Given the description of an element on the screen output the (x, y) to click on. 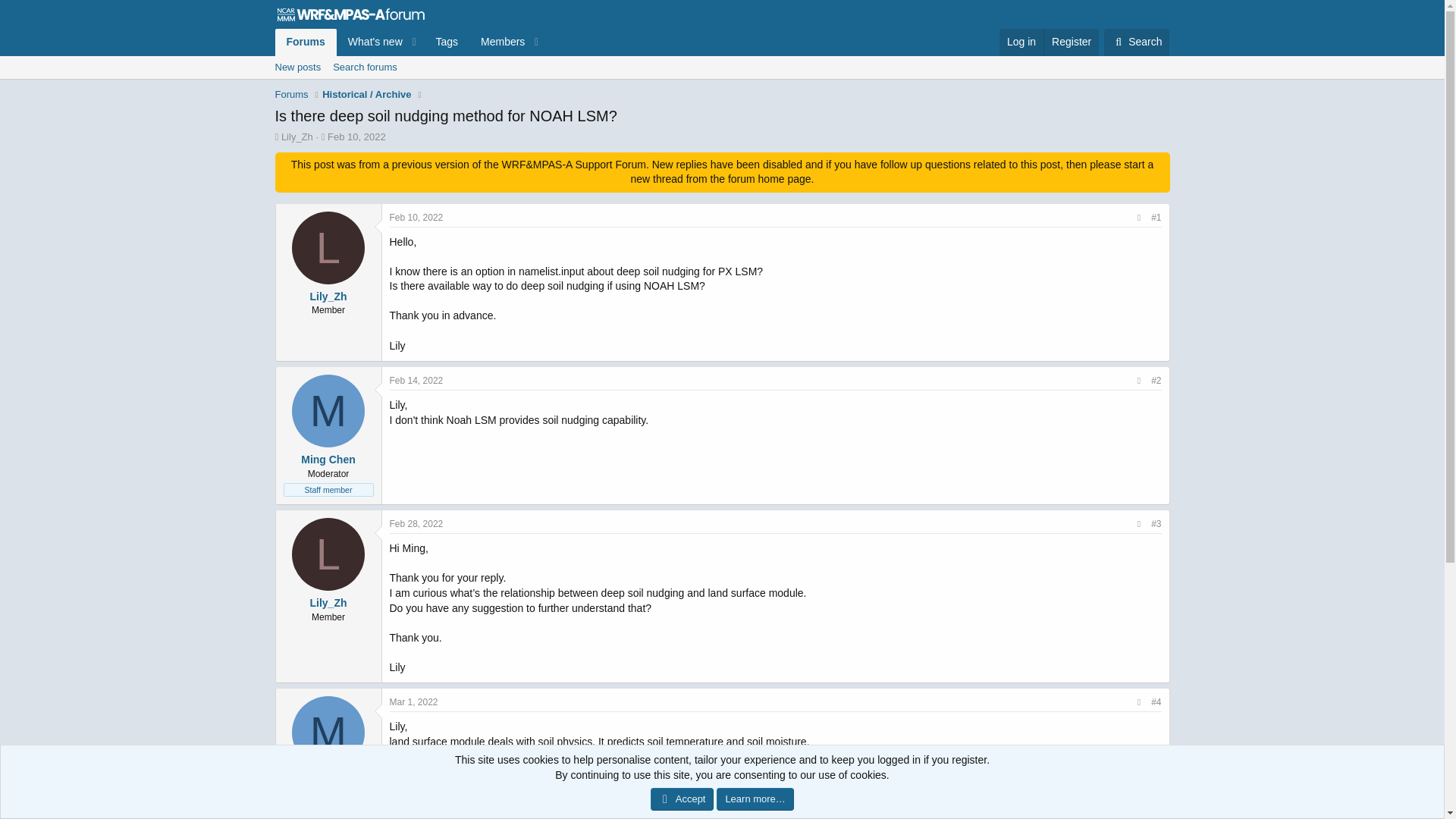
Feb 14, 2022 at 7:43 PM (417, 380)
New posts (410, 59)
Mar 1, 2022 at 9:08 AM (296, 67)
Log in (414, 701)
Members (720, 84)
Register (1020, 42)
Feb 10, 2022 (496, 42)
Search (1071, 42)
Search (417, 217)
M (410, 42)
Feb 10, 2022 (1136, 42)
Feb 28, 2022 at 1:40 PM (1136, 42)
